Given the description of an element on the screen output the (x, y) to click on. 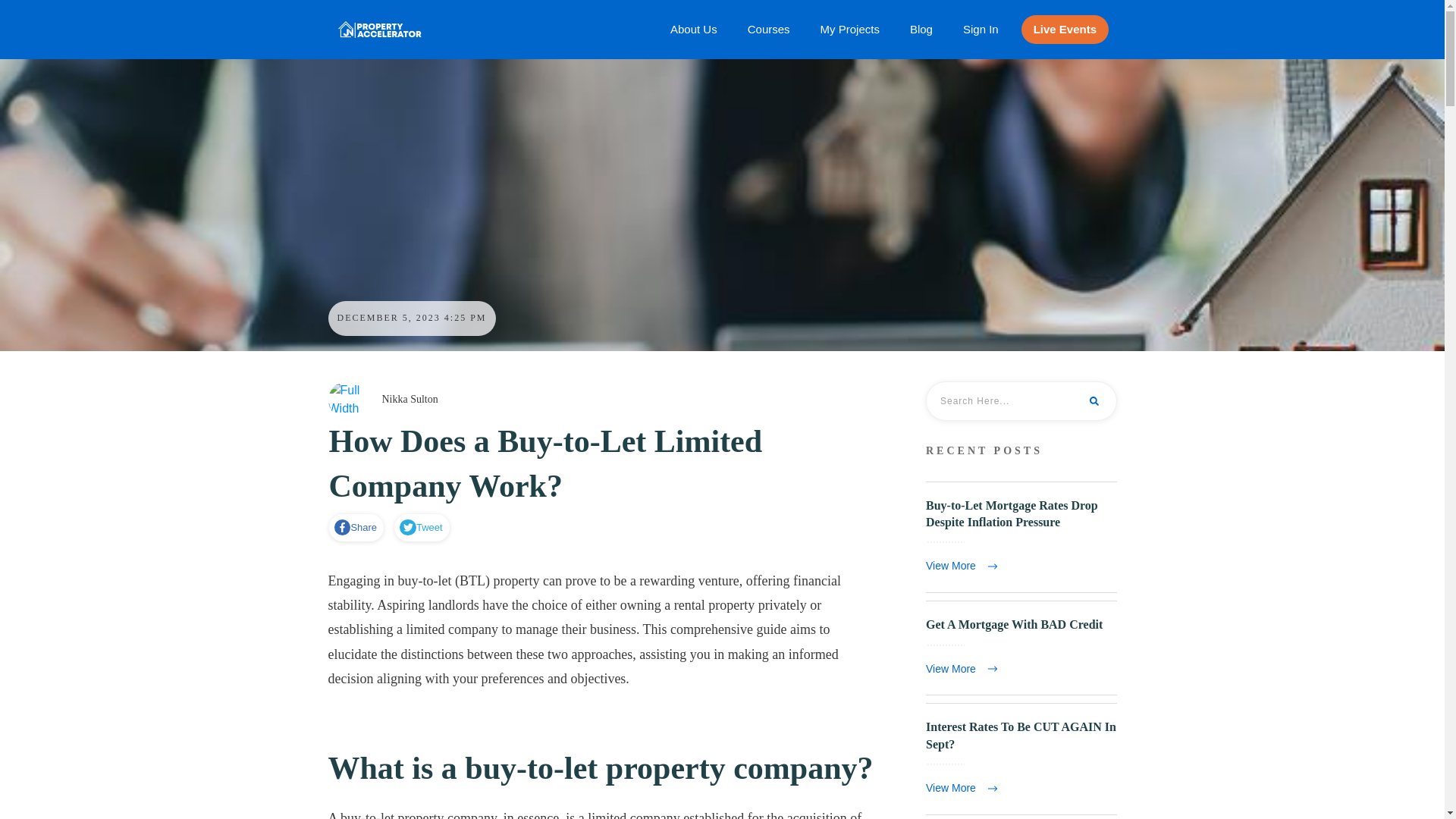
Courses (769, 29)
Interest Rates To Be CUT AGAIN In Sept? (1021, 735)
Full Width Featured Image With Sidebar (346, 399)
How Does a Buy-to-Let Limited Company Work? (545, 463)
Get A Mortgage With BAD Credit (1014, 624)
My Projects (850, 29)
Buy-to-Let Mortgage Rates Drop Despite Inflation Pressure (1011, 513)
View More (964, 566)
Blog (921, 29)
Live Events (1064, 29)
